Given the description of an element on the screen output the (x, y) to click on. 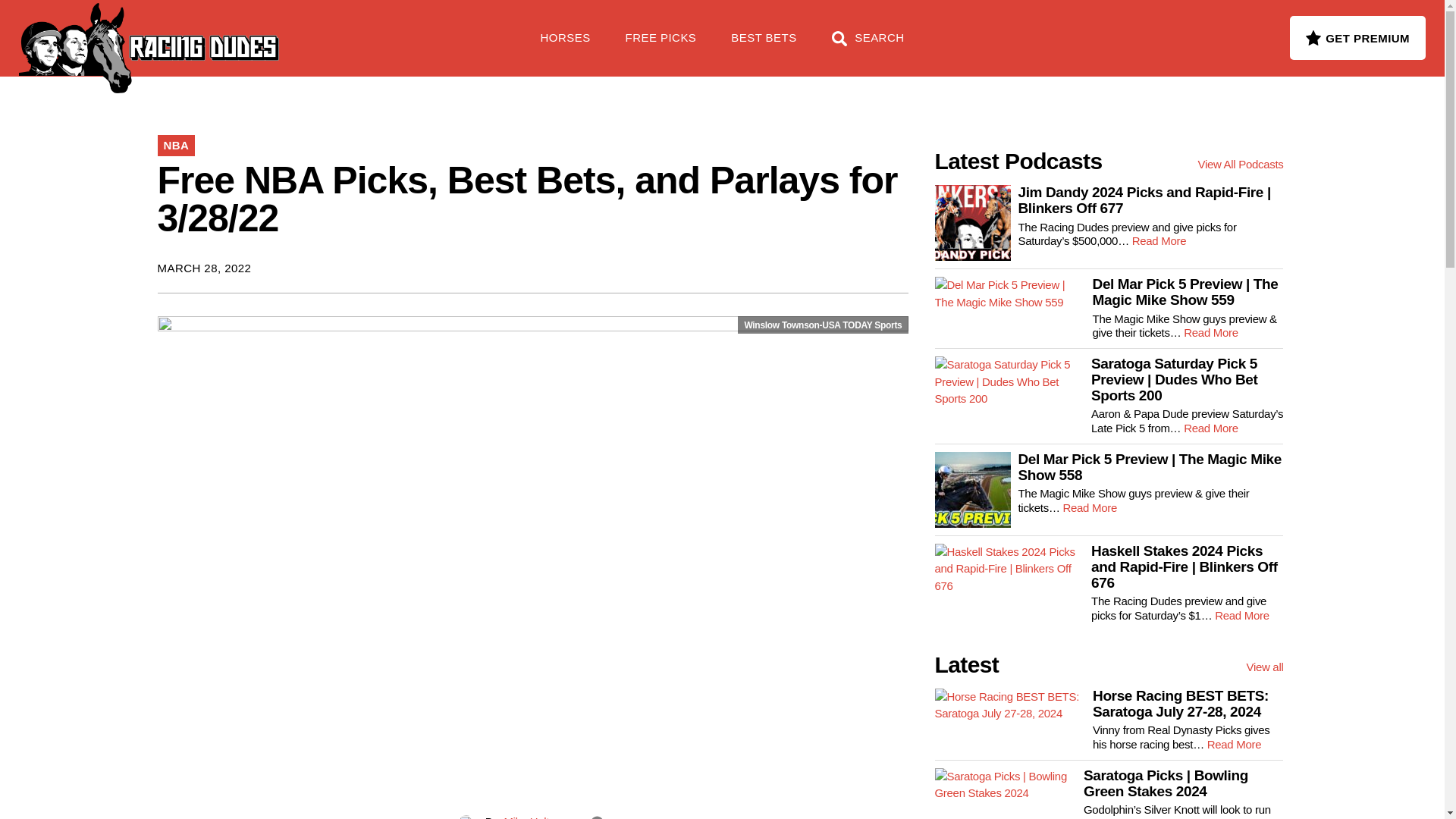
BEST BETS (763, 45)
GET PREMIUM (1357, 37)
FREE PICKS (661, 45)
HORSES (565, 45)
FREE PICKS (245, 29)
Posts by Mike Halterman (541, 816)
PODCASTS (354, 29)
 SEARCH (867, 45)
